Given the description of an element on the screen output the (x, y) to click on. 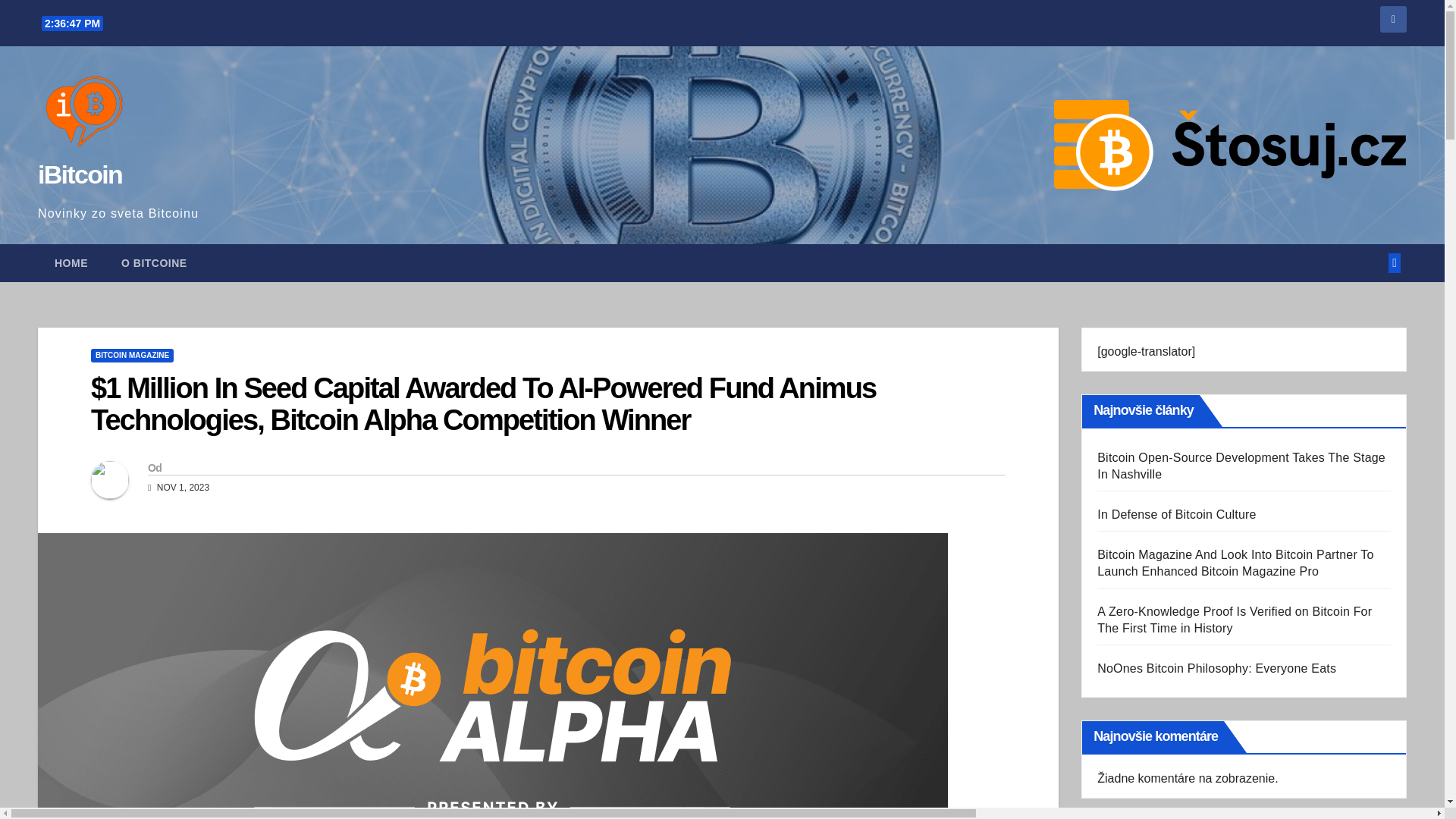
O BITCOINE (153, 262)
BITCOIN MAGAZINE (131, 355)
HOME (70, 262)
iBitcoin (79, 174)
Home (70, 262)
